Given the description of an element on the screen output the (x, y) to click on. 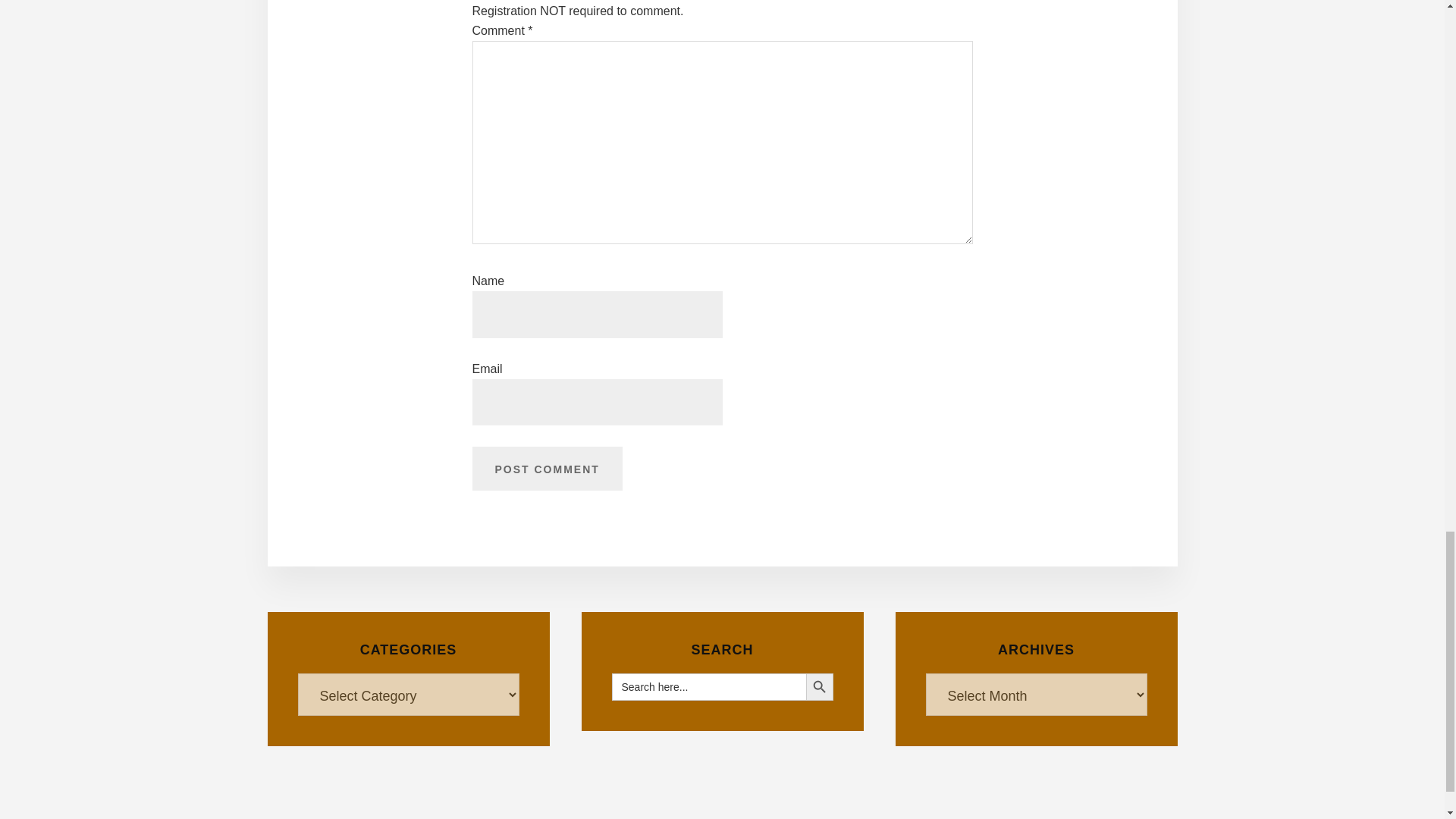
Post Comment (546, 468)
Post Comment (546, 468)
SEARCH BUTTON (818, 687)
